Given the description of an element on the screen output the (x, y) to click on. 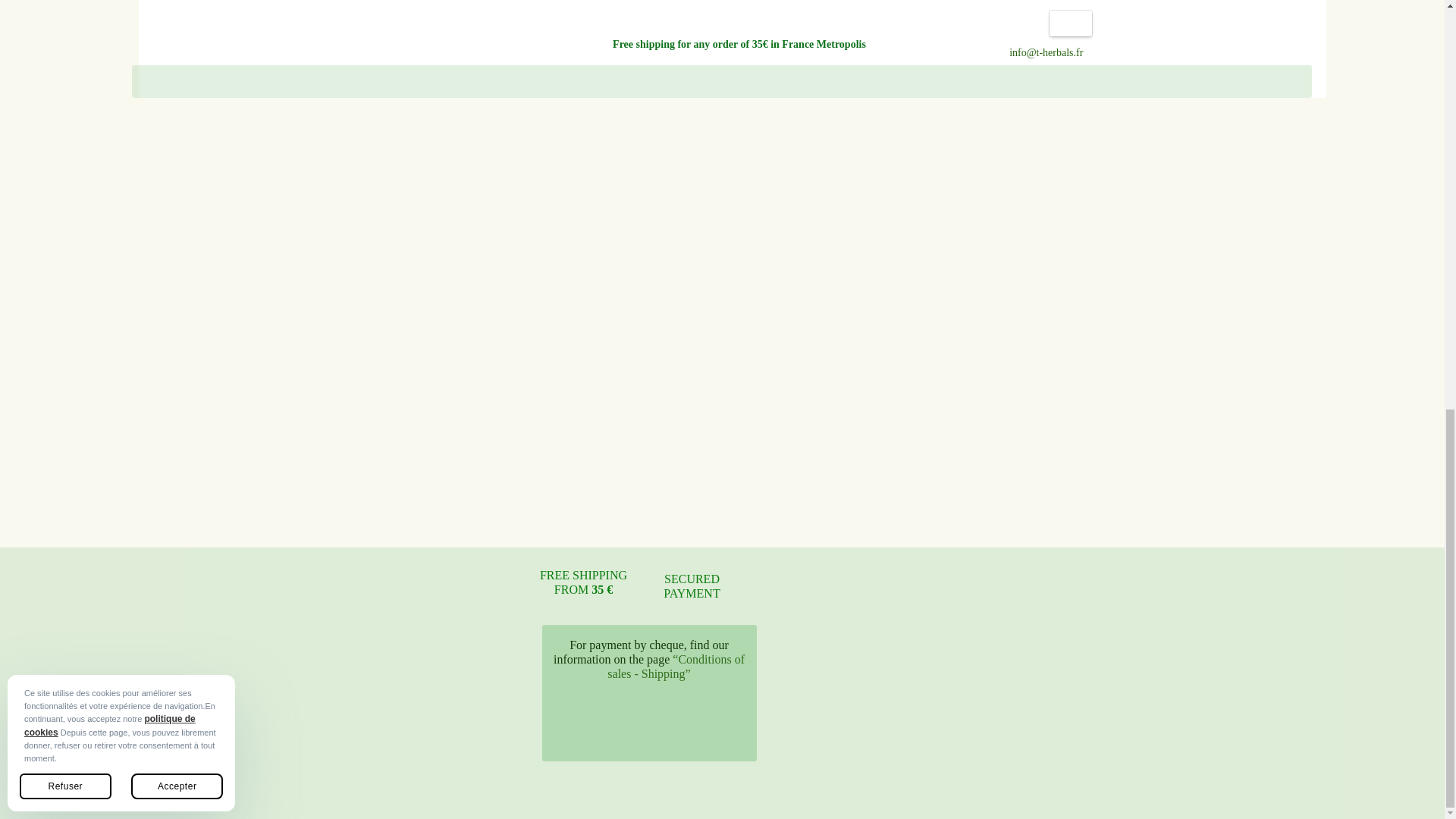
Conditions of sales - Shipping (675, 666)
